Given the description of an element on the screen output the (x, y) to click on. 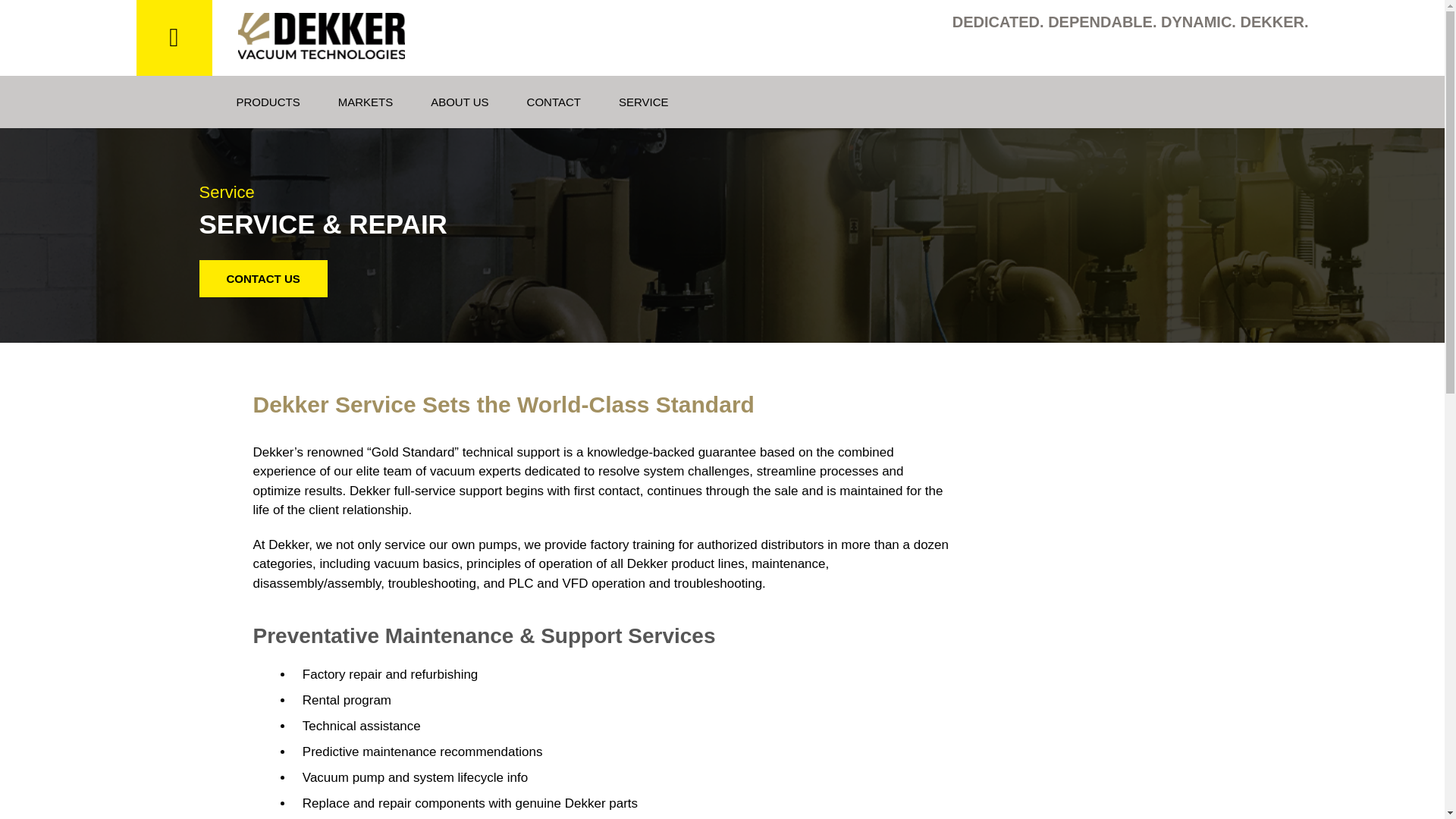
CONTACT US (262, 278)
ABOUT US (458, 101)
CONTACT (553, 101)
MARKETS (365, 101)
PRODUCTS (267, 101)
SERVICE (643, 101)
